Given the description of an element on the screen output the (x, y) to click on. 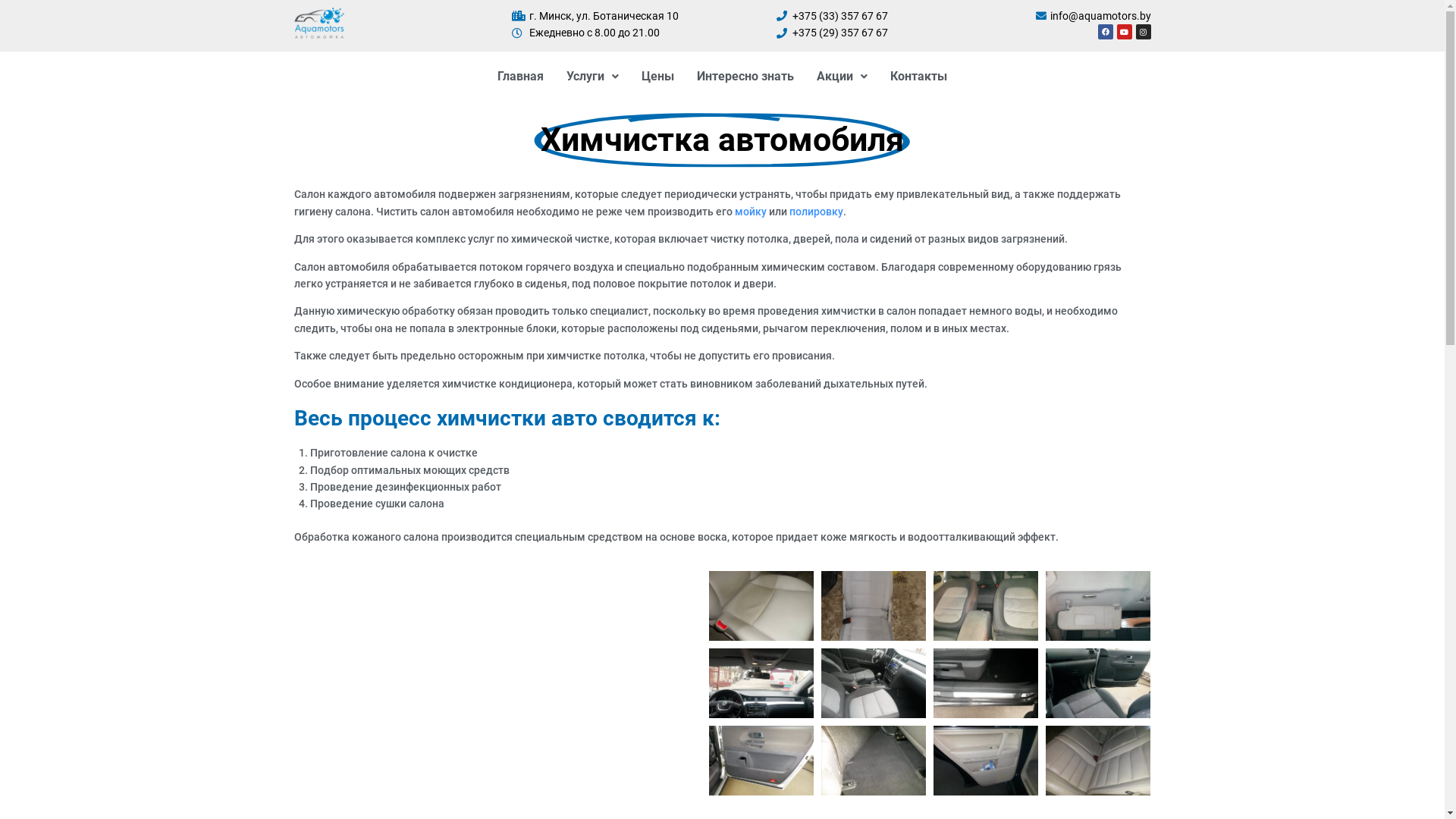
+375 (33) 357 67 67 Element type: text (830, 15)
+375 (29) 357 67 67 Element type: text (830, 32)
